Given the description of an element on the screen output the (x, y) to click on. 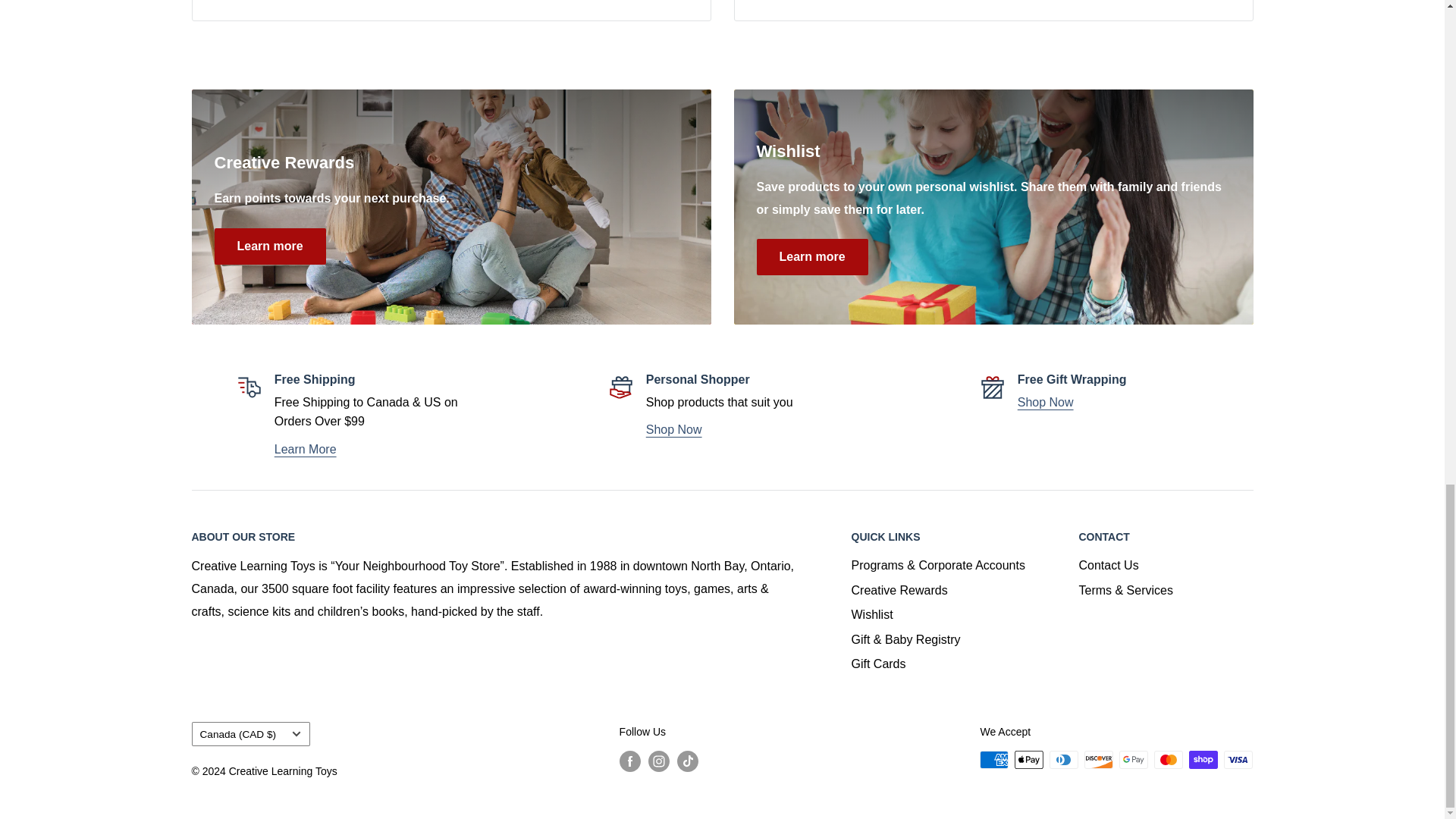
Personal Shopper (1045, 401)
Personal Shopper (673, 429)
